Given the description of an element on the screen output the (x, y) to click on. 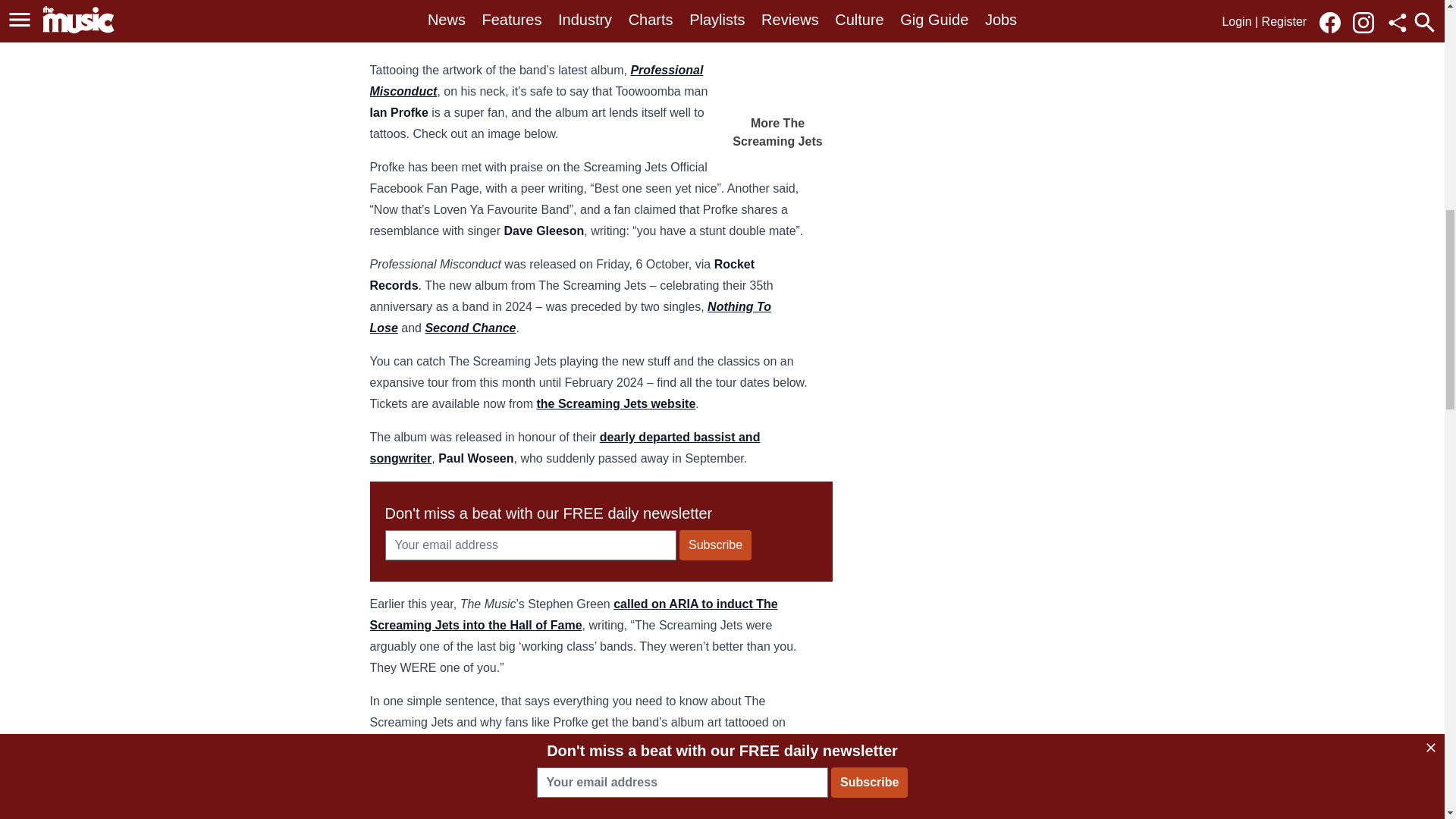
Nothing To Lose (570, 317)
Professional Misconduct (536, 80)
dearly departed bassist and songwriter (564, 447)
Subscribe (715, 544)
Ian Profke (471, 783)
Monday, November 6, 2023 (599, 783)
Second Chance (470, 327)
the Screaming Jets website (615, 403)
